Given the description of an element on the screen output the (x, y) to click on. 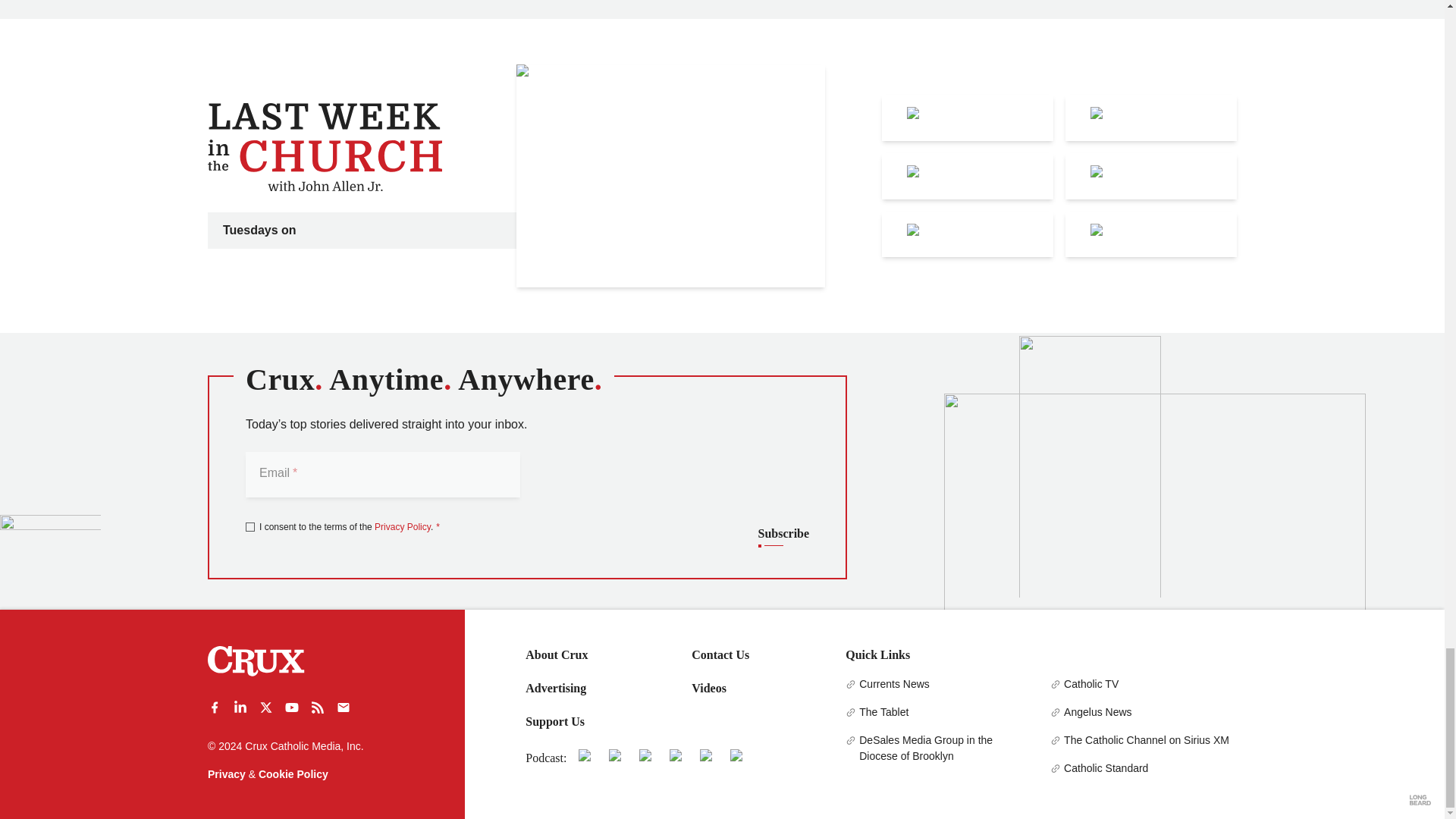
true (250, 526)
required (435, 526)
required (293, 472)
